Given the description of an element on the screen output the (x, y) to click on. 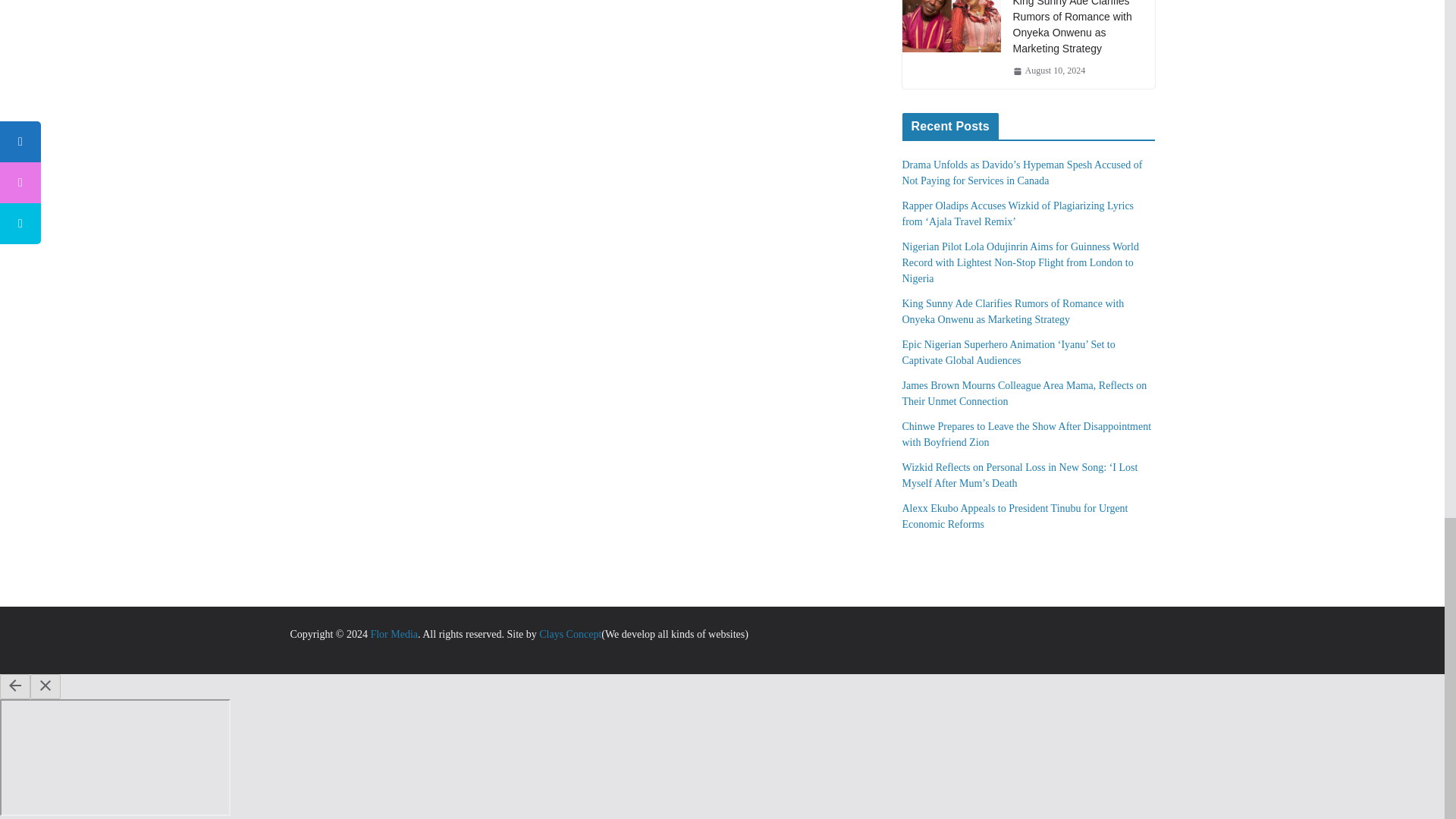
August 10, 2024 (1049, 71)
